Given the description of an element on the screen output the (x, y) to click on. 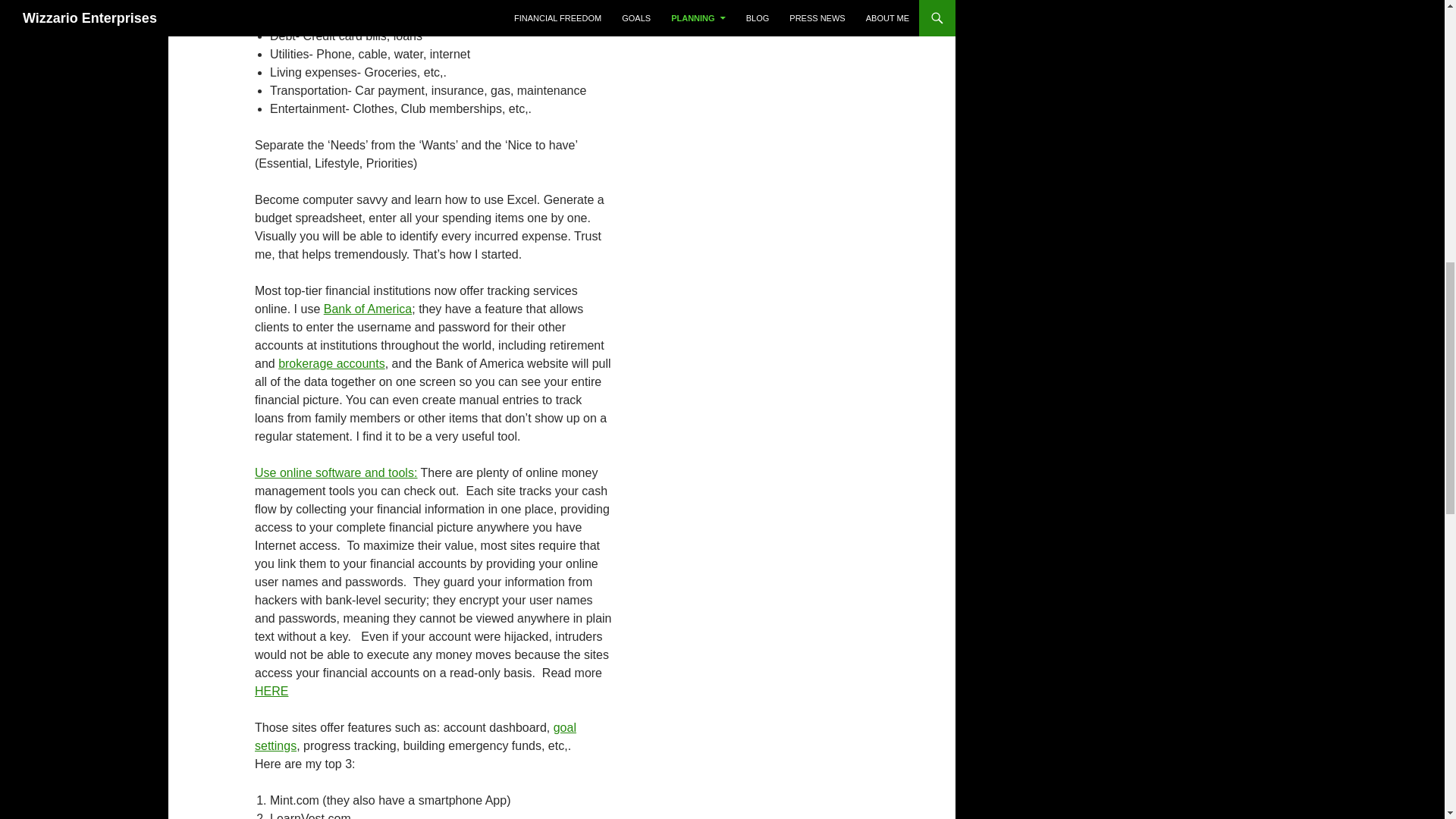
HERE (271, 690)
Free Budgeting Software (335, 472)
brokerage accounts (331, 363)
Bank of America (367, 308)
Bank of America (367, 308)
Software Comparisons (271, 690)
goal settings (415, 736)
Use online software and tools: (335, 472)
Charles Schwab (331, 363)
Goals (415, 736)
